Given the description of an element on the screen output the (x, y) to click on. 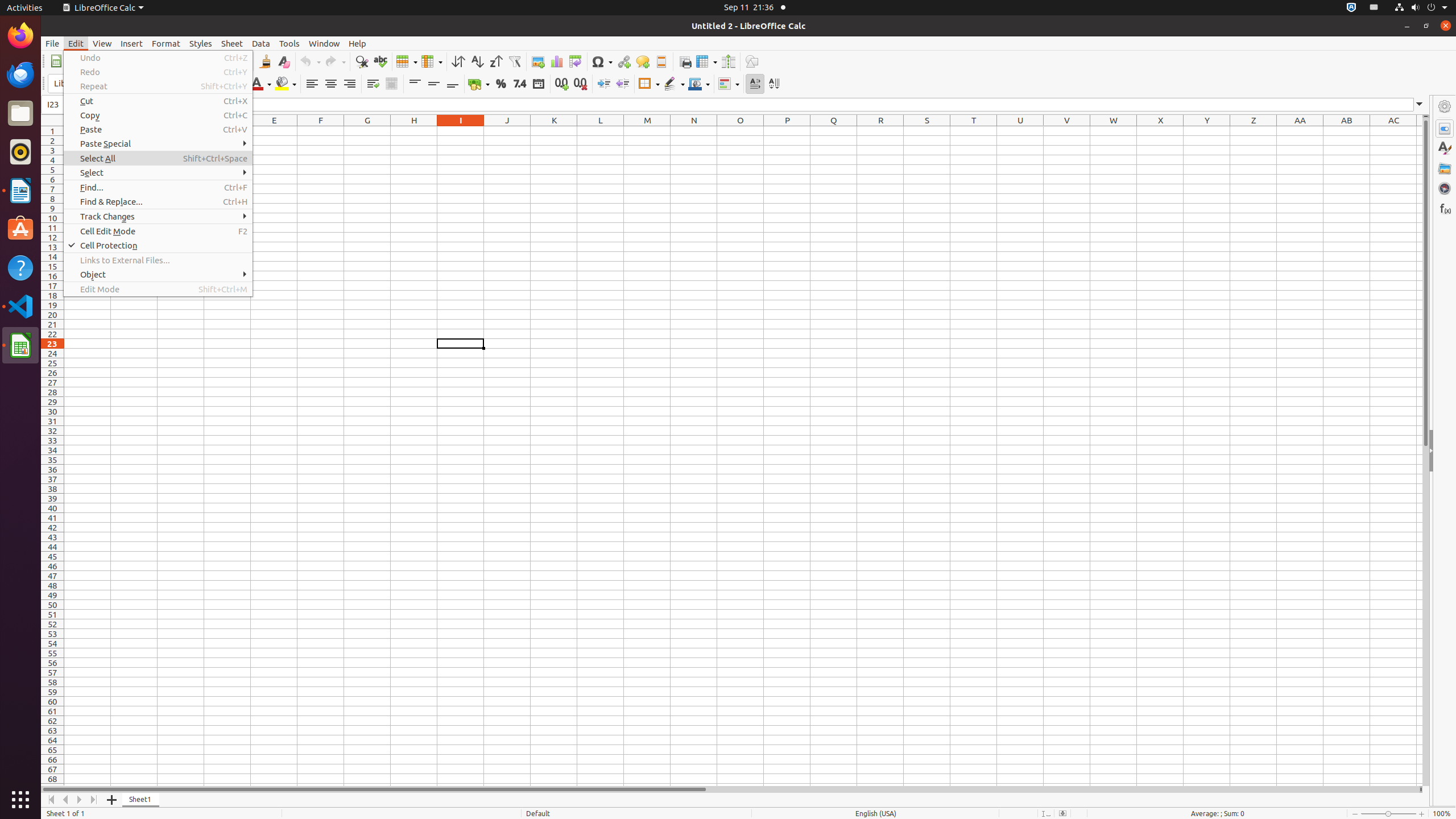
Insert Element type: menu (131, 43)
